Given the description of an element on the screen output the (x, y) to click on. 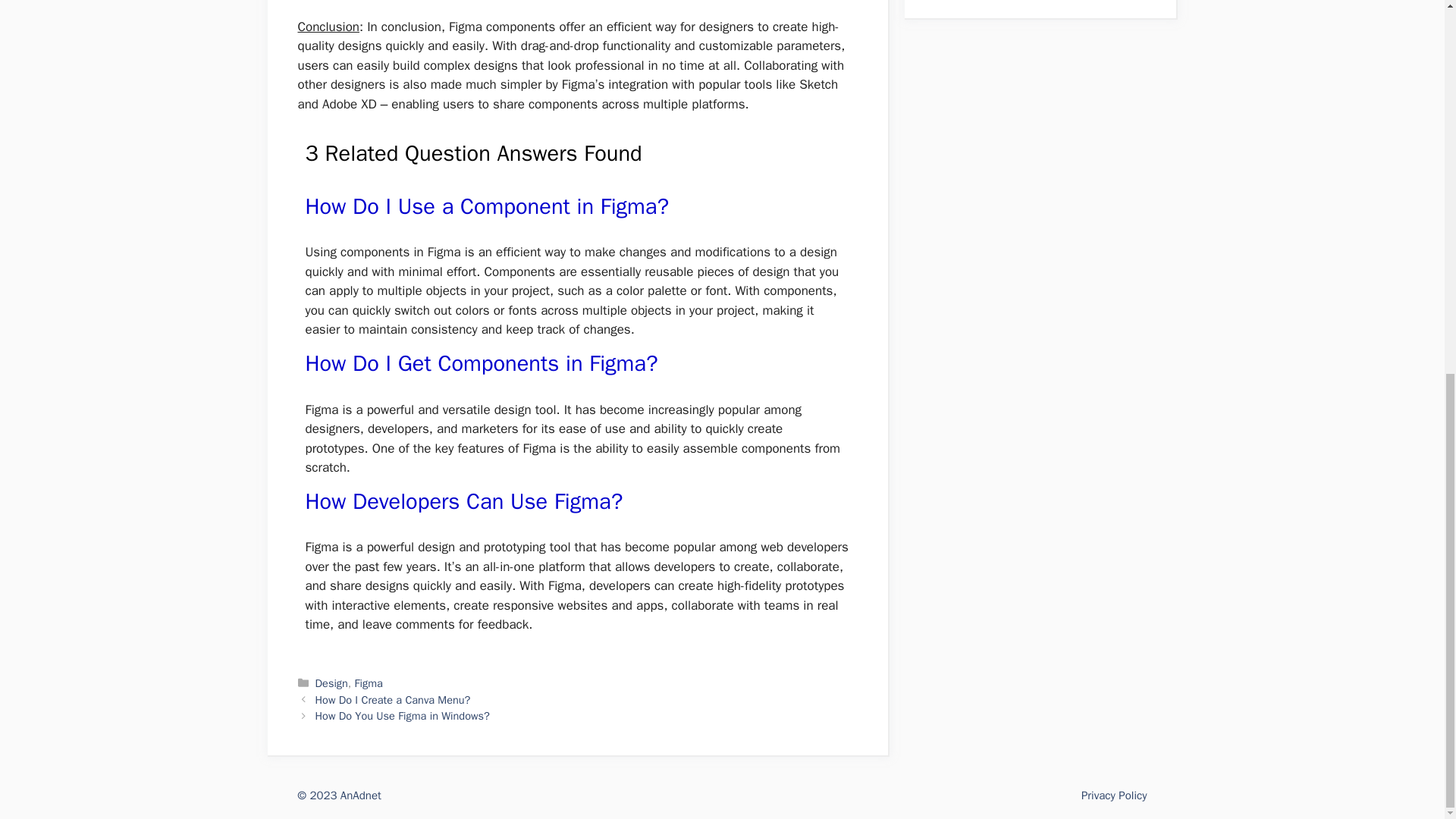
How Do I Use a Component in Figma? (486, 206)
How Do I Get Components in Figma? (481, 363)
How Do I Create a Canva Menu? (392, 699)
Privacy Policy (1114, 795)
Figma (368, 683)
How Do You Use Figma in Windows? (402, 715)
How Developers Can Use Figma? (463, 501)
Design (331, 683)
